Given the description of an element on the screen output the (x, y) to click on. 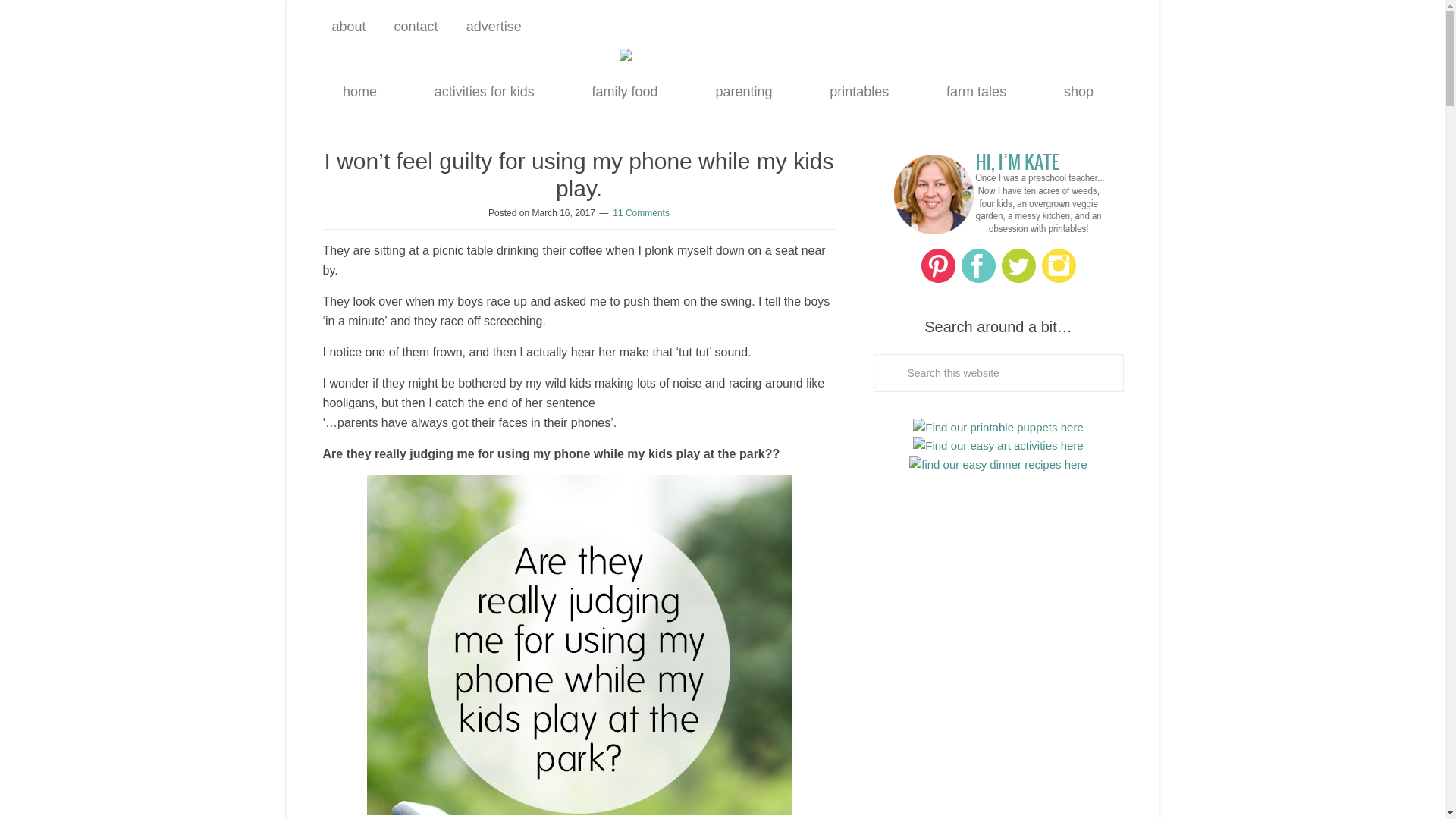
parenting (743, 90)
11 Comments (640, 213)
home (359, 90)
shop (1078, 90)
family food (624, 90)
farm tales (975, 90)
advertise (487, 26)
printables (859, 90)
Picklebums (722, 66)
